Given the description of an element on the screen output the (x, y) to click on. 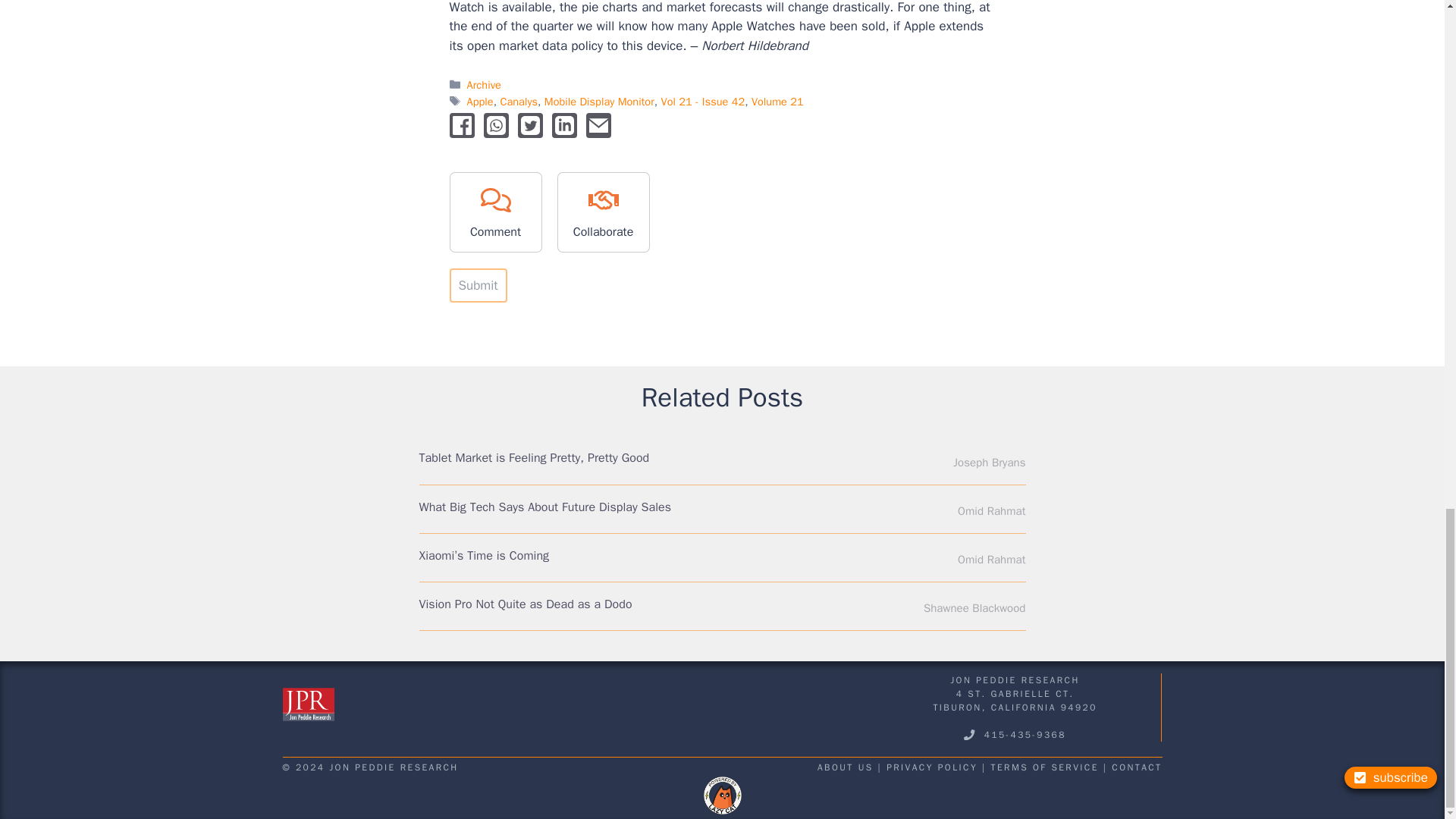
Apple (480, 101)
TERMS OF SERVICE (1045, 767)
Volume 21 (777, 101)
Vol 21 - Issue 42 (703, 101)
ABOUT US (844, 767)
Archive (483, 84)
What Big Tech Says About Future Display Sales (545, 507)
Mobile Display Monitor (598, 101)
Canalys (518, 101)
Vision Pro Not Quite as Dead as a Dodo (525, 604)
CONTACT (1136, 767)
Submit (477, 285)
Powered by Lazy Cat Media (722, 795)
